Given the description of an element on the screen output the (x, y) to click on. 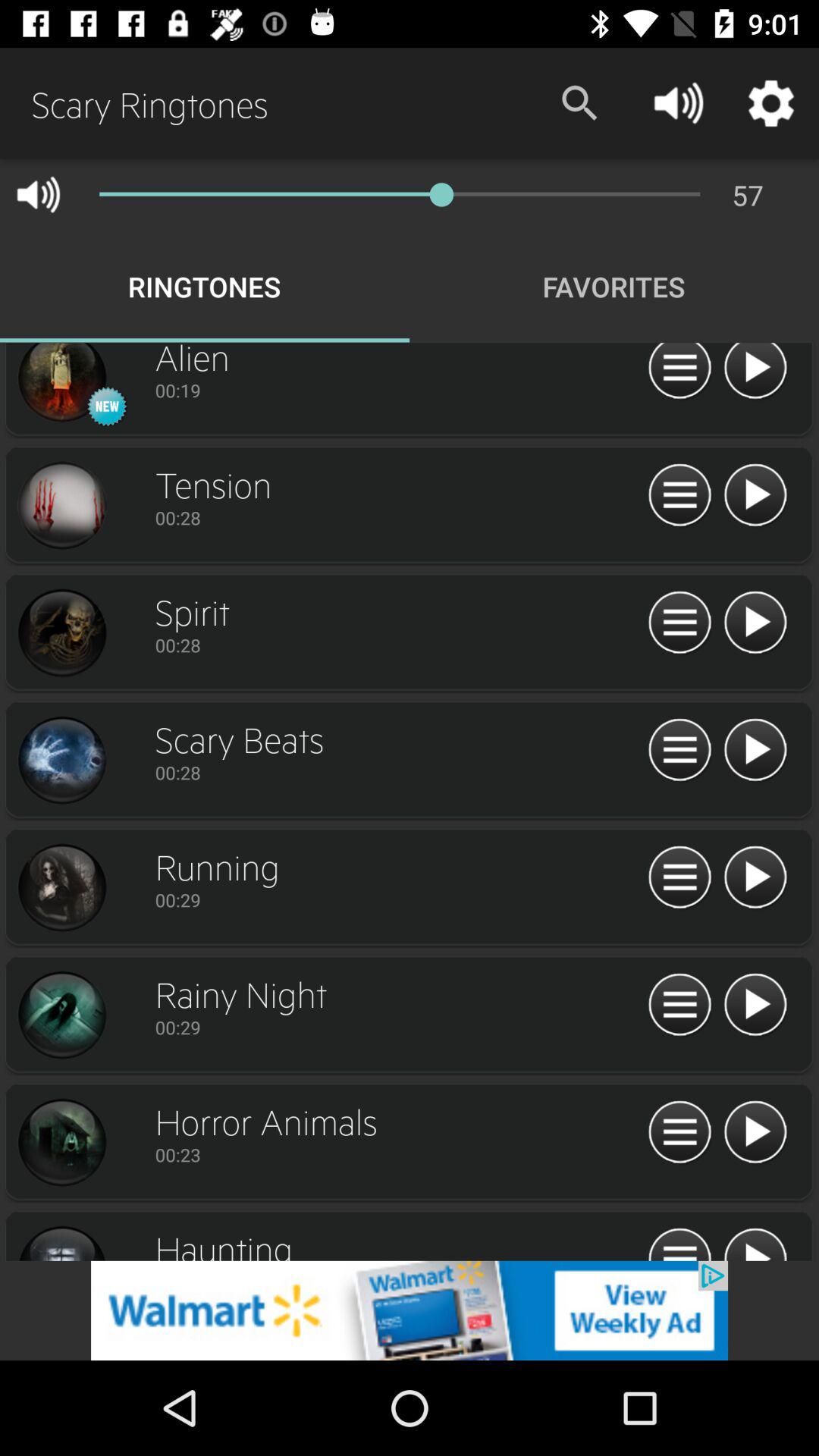
music description button (679, 877)
